Given the description of an element on the screen output the (x, y) to click on. 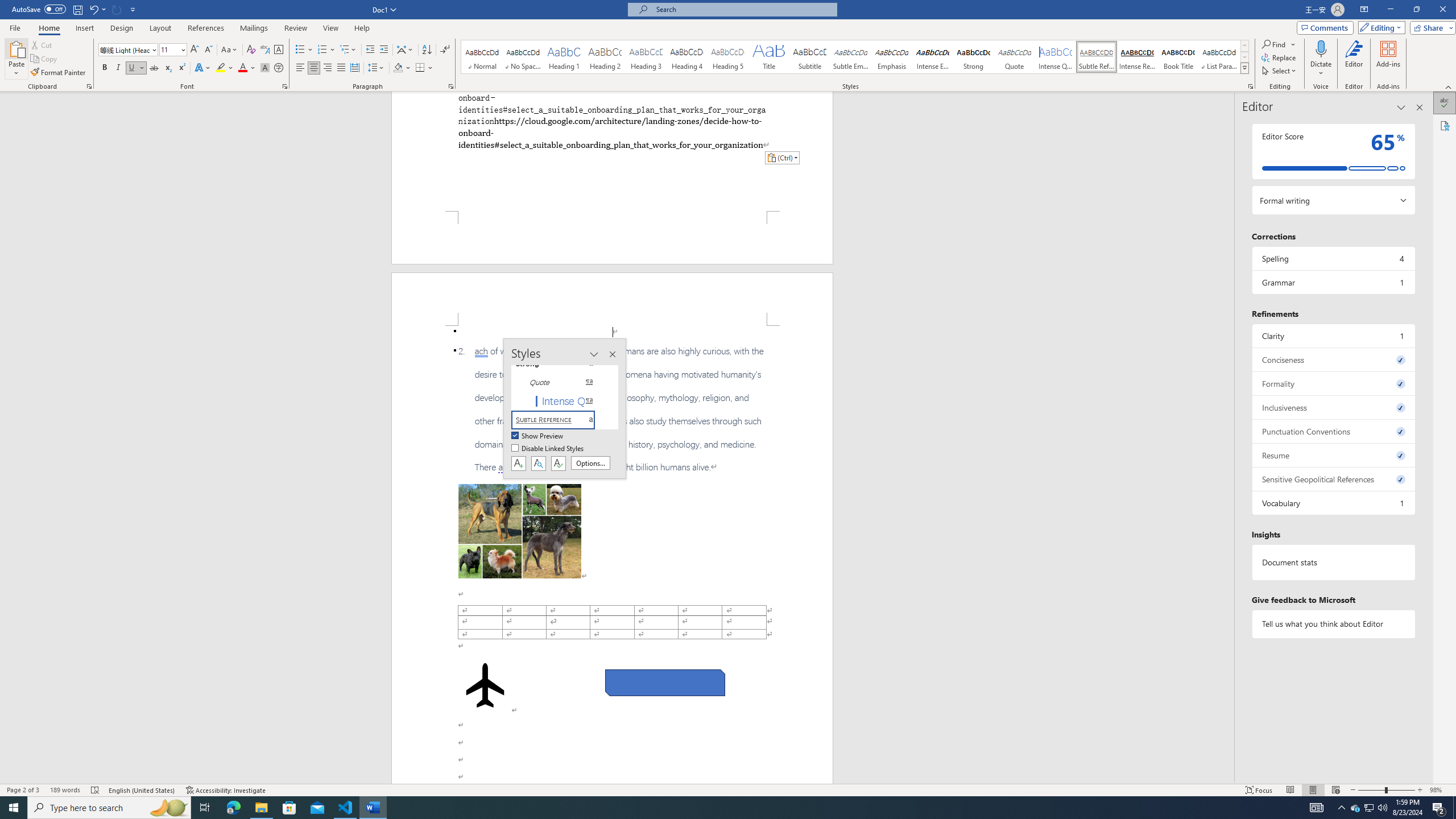
Accessibility (1444, 125)
Heading 3 (646, 56)
Vocabulary, 1 issue. Press space or enter to review items. (1333, 502)
Formality, 0 issues. Press space or enter to review items. (1333, 383)
